Given the description of an element on the screen output the (x, y) to click on. 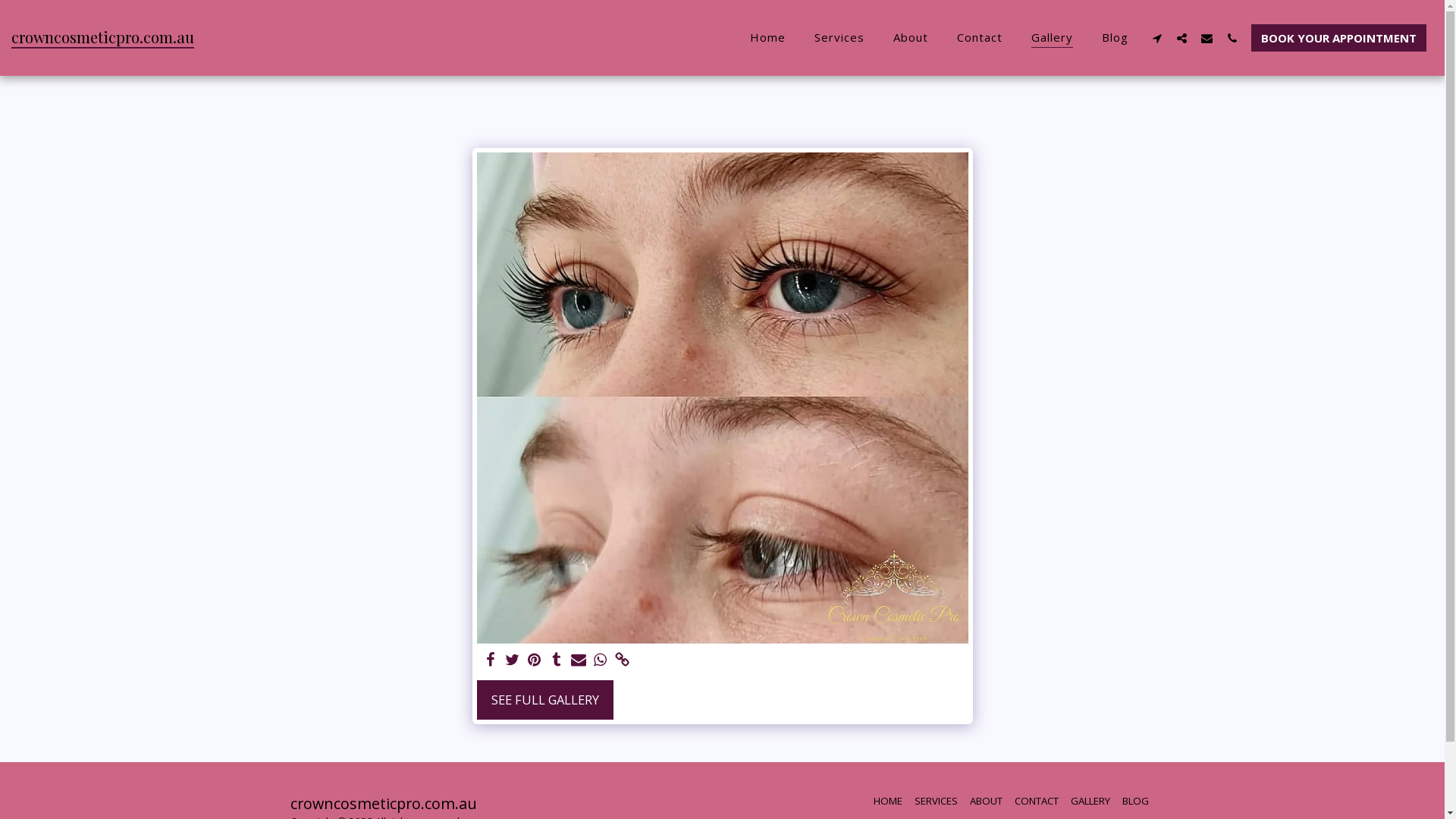
SERVICES Element type: text (935, 800)
  Element type: text (1206, 37)
crowncosmeticpro.com.au Element type: text (102, 37)
  Element type: text (1181, 37)
link Element type: hover (622, 660)
Gallery Element type: text (1052, 37)
  Element type: text (1231, 37)
  Element type: text (622, 660)
whatsapp Element type: hover (600, 660)
Contact Element type: text (979, 37)
Pin it Element type: hover (534, 660)
  Element type: text (578, 660)
BOOK YOUR APPOINTMENT Element type: text (1338, 38)
SEE FULL GALLERY Element type: text (544, 699)
  Element type: text (512, 660)
  Element type: text (556, 660)
Share by Email Element type: hover (578, 660)
BLOG Element type: text (1135, 800)
  Element type: text (600, 660)
  Element type: text (490, 660)
BOOK YOUR APPOINTMENT Element type: text (1338, 37)
HOME Element type: text (887, 800)
Tweet Element type: hover (512, 660)
  Element type: text (534, 660)
GALLERY Element type: text (1090, 800)
CONTACT Element type: text (1036, 800)
tumblr Element type: hover (556, 660)
Share on Facebook Element type: hover (490, 660)
Home Element type: text (767, 37)
Blog Element type: text (1114, 37)
Services Element type: text (839, 37)
About Element type: text (910, 37)
ABOUT Element type: text (985, 800)
  Element type: text (1156, 37)
